Given the description of an element on the screen output the (x, y) to click on. 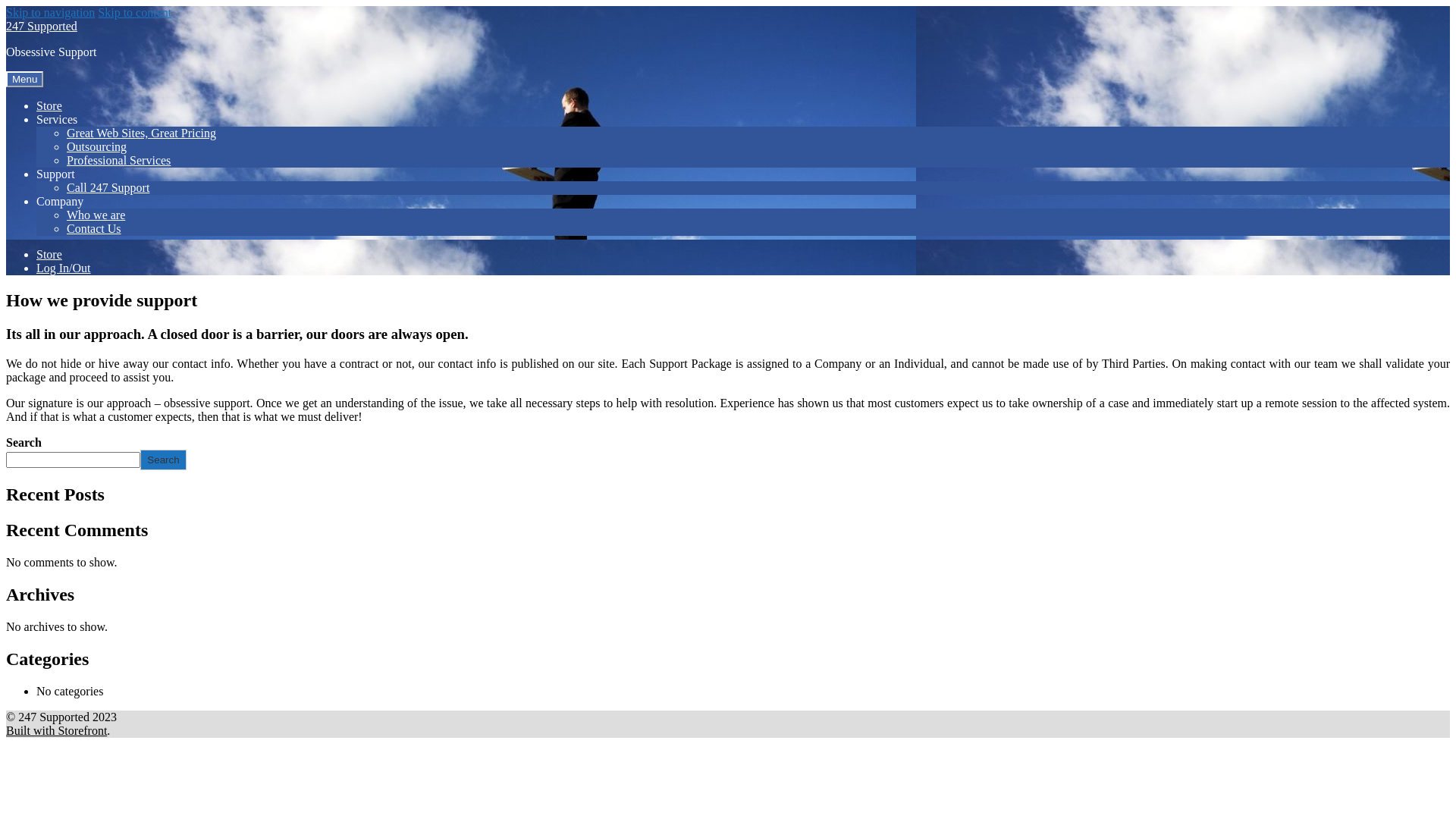
247 Supported Element type: text (41, 25)
Professional Services Element type: text (118, 159)
Store Element type: text (49, 105)
Services Element type: text (56, 118)
Menu Element type: text (24, 79)
Skip to content Element type: text (134, 12)
Who we are Element type: text (95, 214)
Built with Storefront Element type: text (56, 730)
Store Element type: text (49, 253)
Search Element type: text (163, 459)
Great Web Sites, Great Pricing Element type: text (141, 132)
Contact Us Element type: text (93, 228)
Company Element type: text (59, 200)
Skip to navigation Element type: text (50, 12)
Call 247 Support Element type: text (107, 187)
Log In/Out Element type: text (63, 267)
Outsourcing Element type: text (96, 146)
Support Element type: text (55, 173)
